Given the description of an element on the screen output the (x, y) to click on. 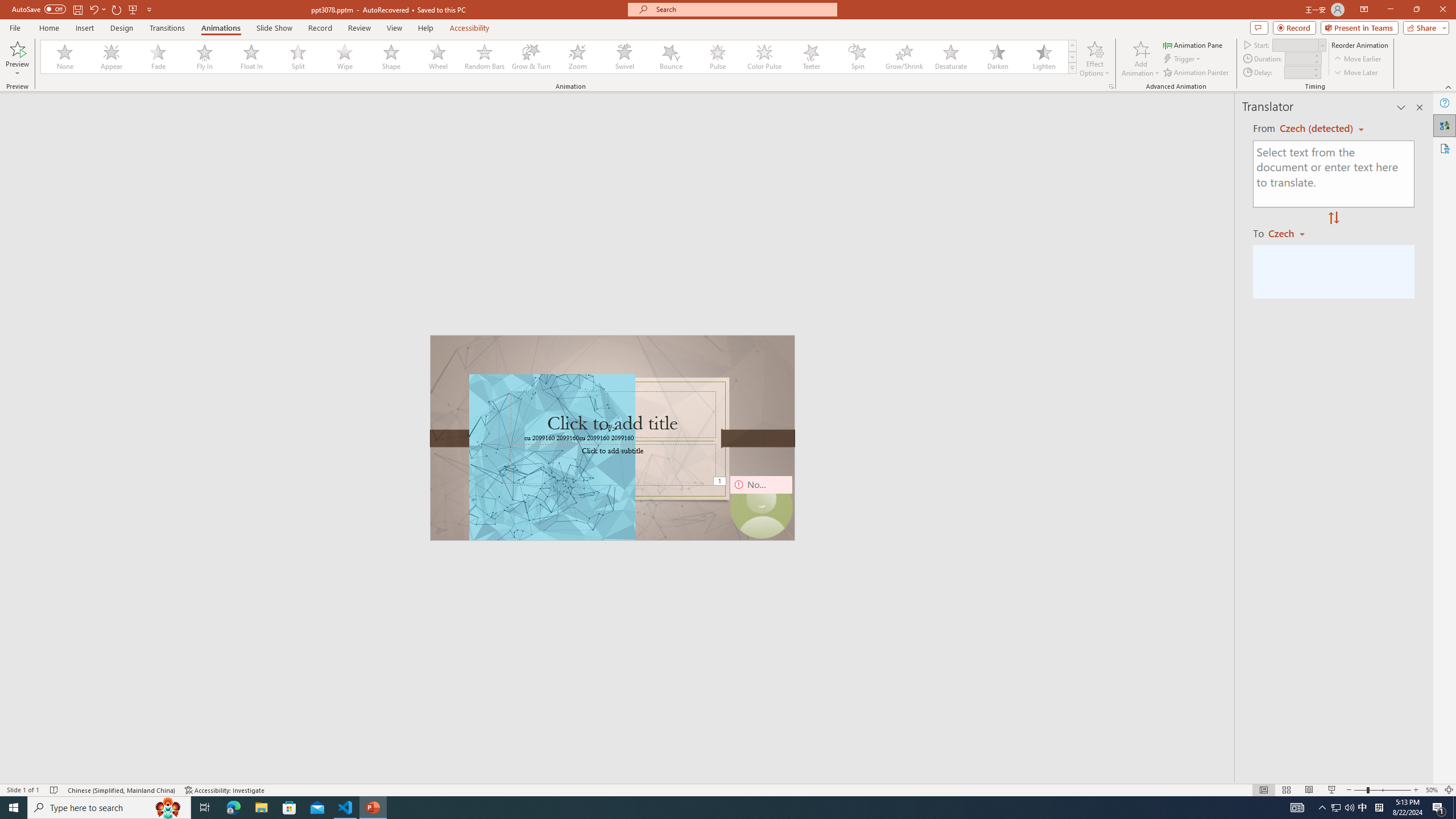
Wikipedia, the free encyclopedia (247, 78)
